Given the description of an element on the screen output the (x, y) to click on. 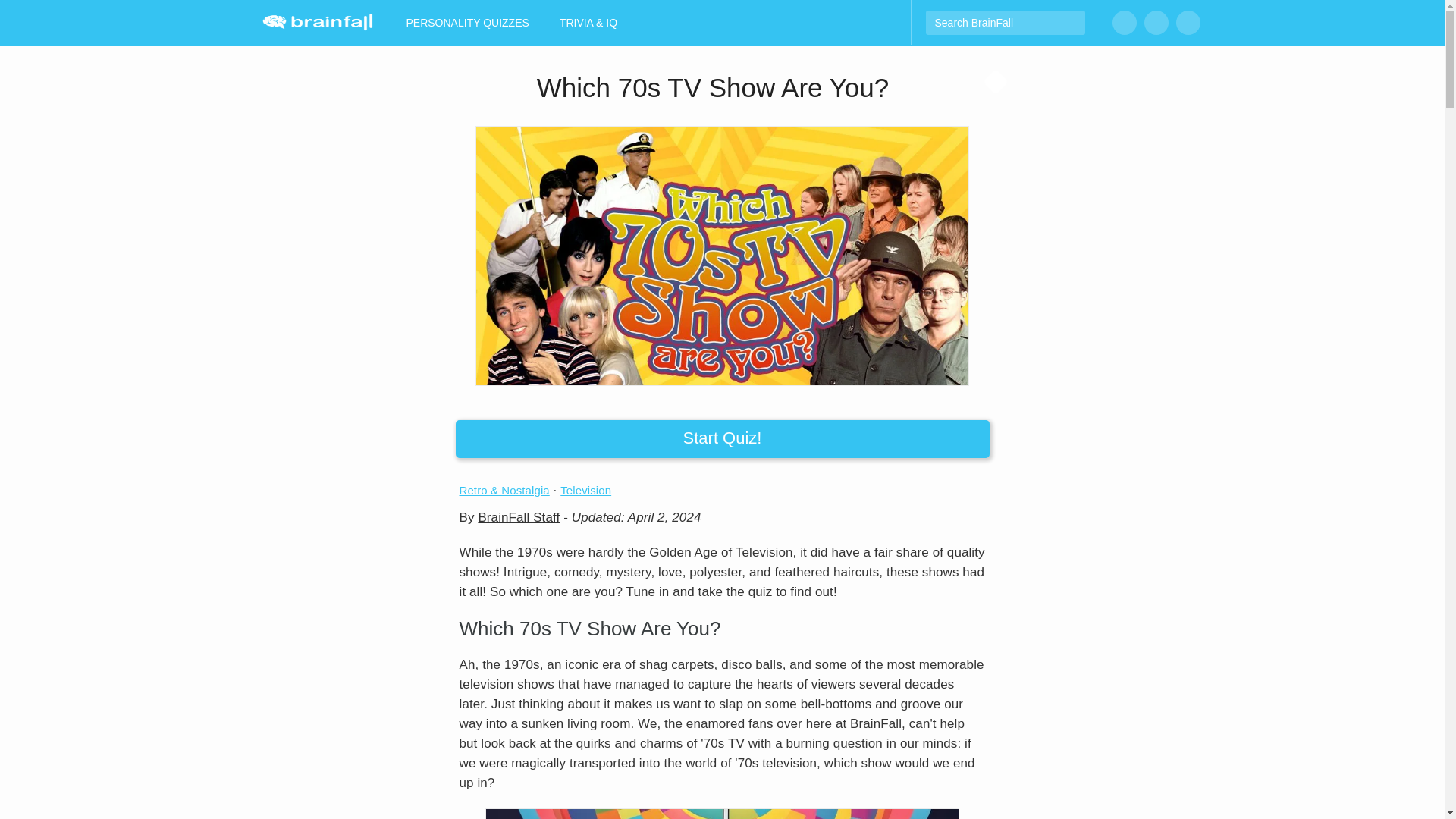
Which 70s TV Show Are You? (722, 255)
Follow us on Twitter! (1186, 22)
Like us on Facebook! (1123, 22)
Follow us on Instagram! (1154, 22)
Start Quiz! (721, 438)
